Given the description of an element on the screen output the (x, y) to click on. 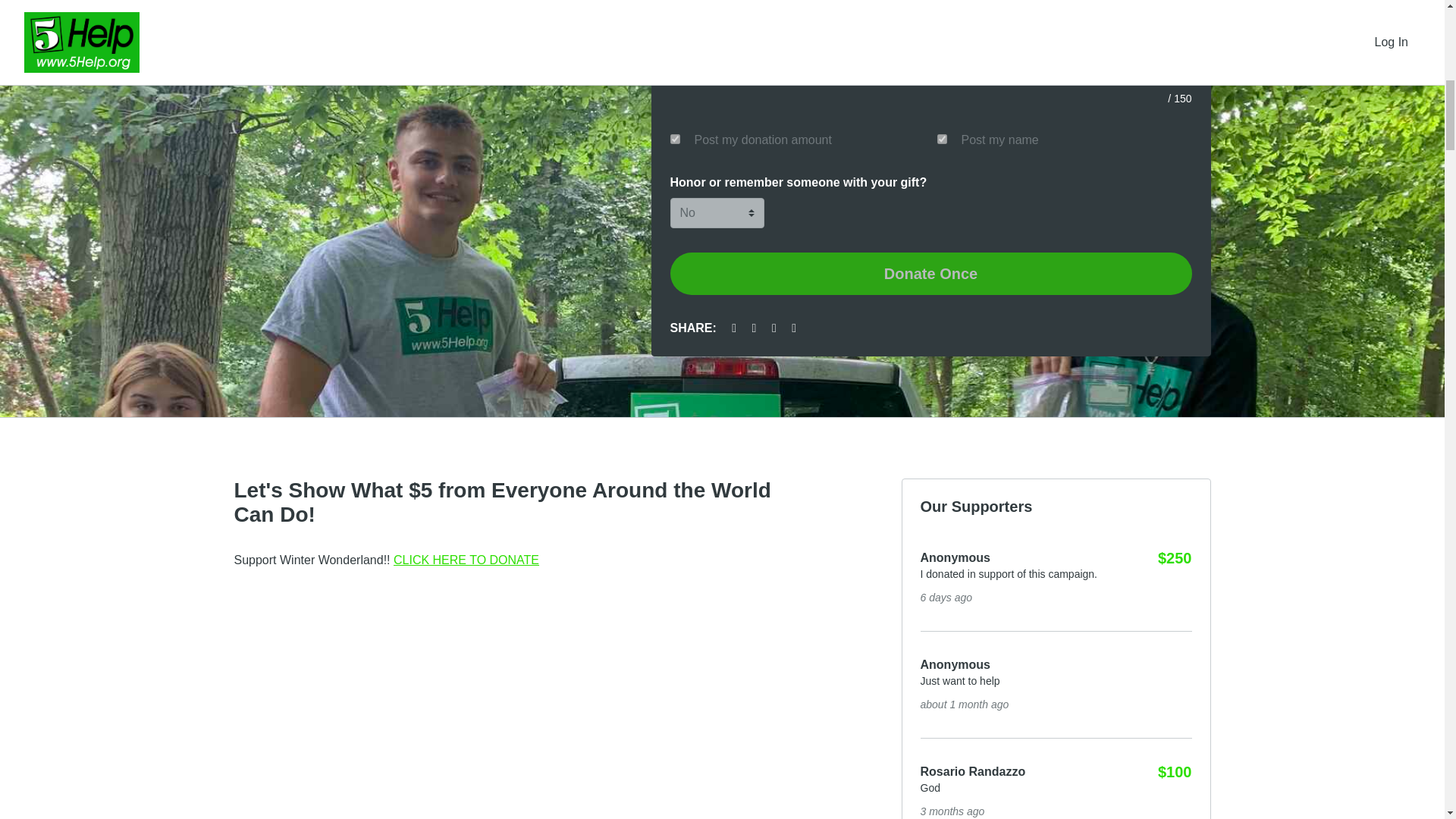
CLICK HERE TO DONATE (465, 559)
1 (942, 139)
Donate Once (930, 273)
1 (674, 139)
